Given the description of an element on the screen output the (x, y) to click on. 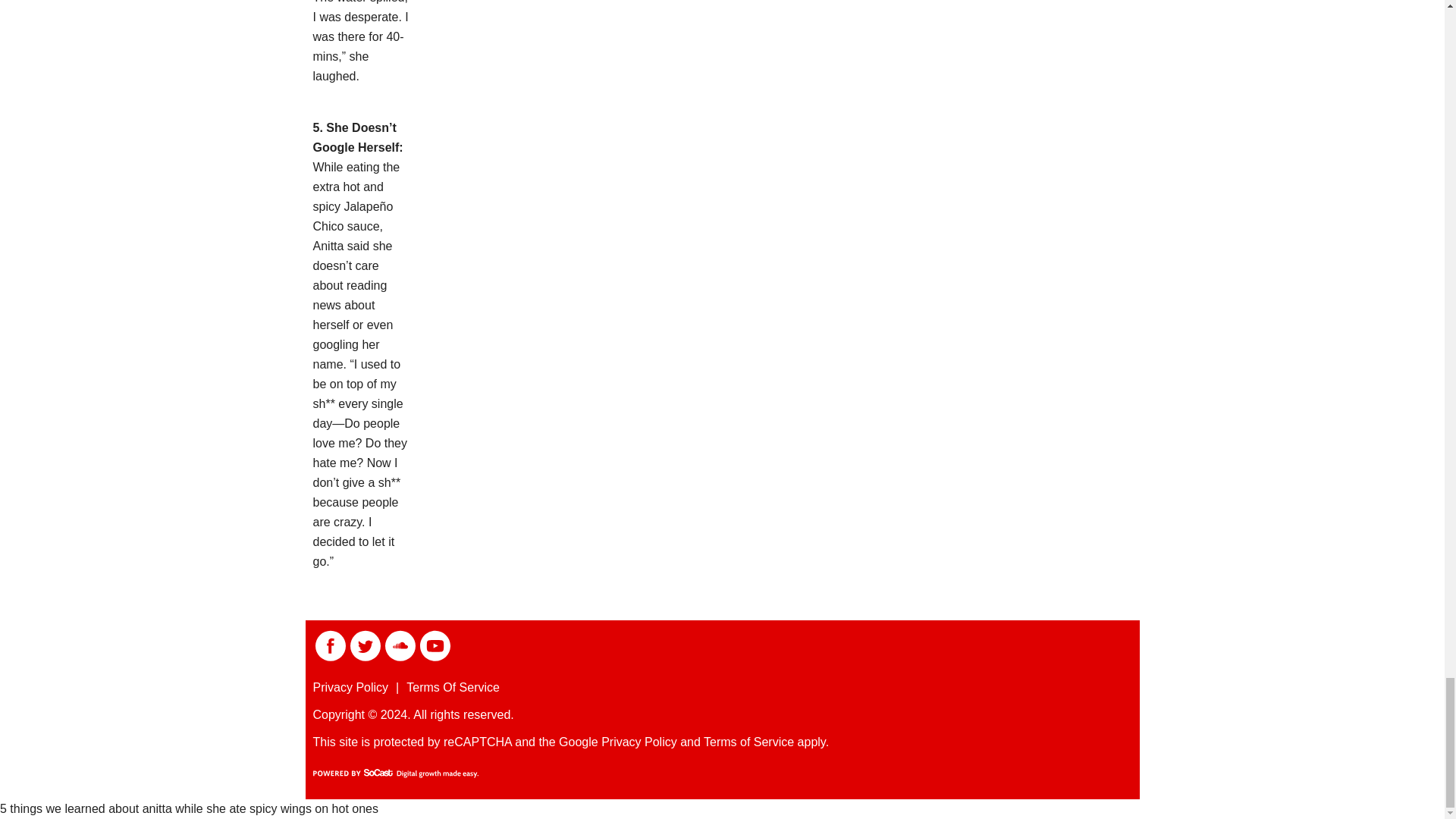
Powered By SoCast (395, 773)
